Given the description of an element on the screen output the (x, y) to click on. 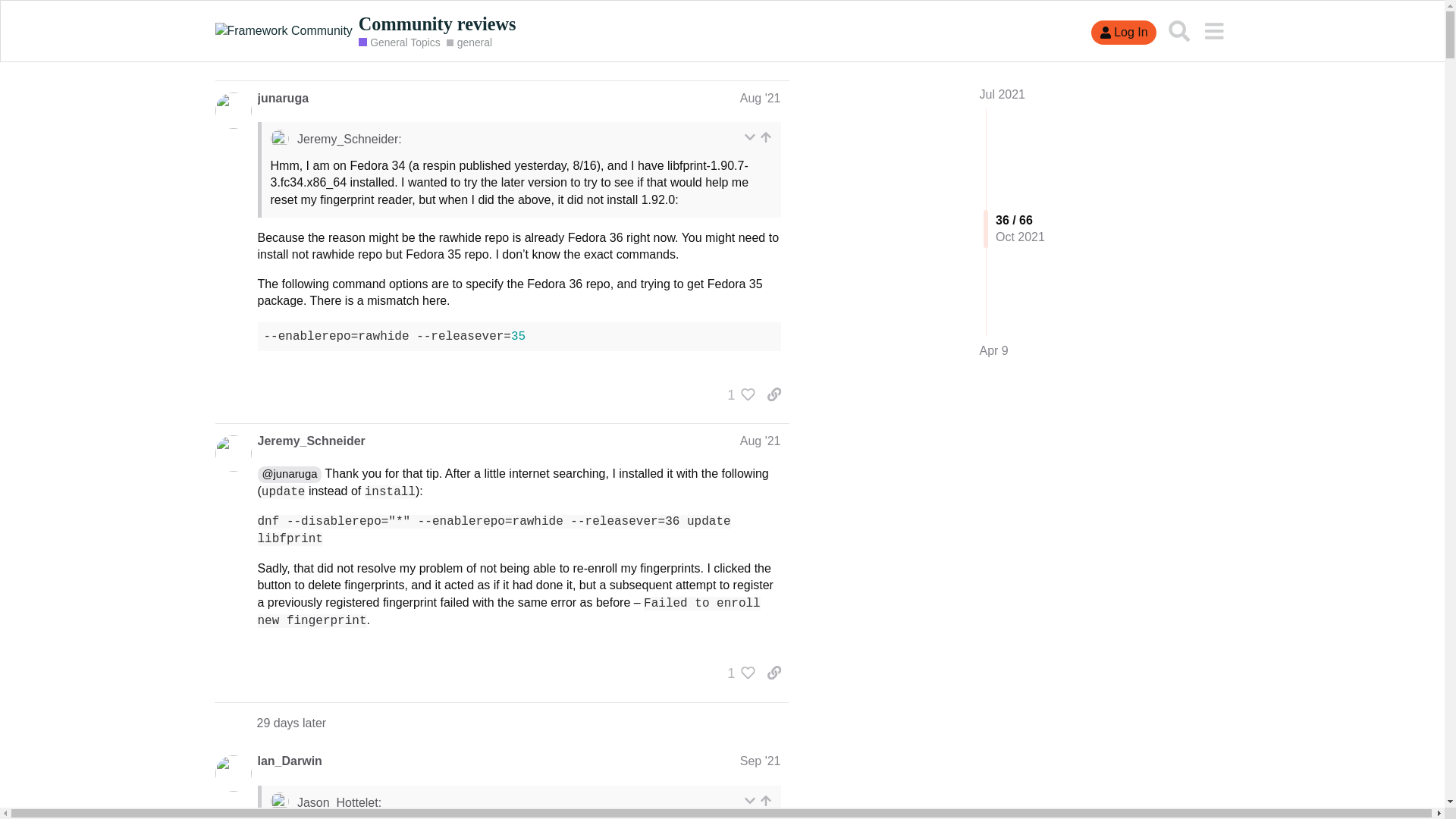
Jul 2021 (1002, 93)
Log In (1123, 32)
menu (1213, 30)
go to the quoted post (765, 137)
junaruga (282, 98)
Apr 9, 2024 4:32 am (994, 350)
General Topics (399, 42)
Post date (759, 97)
Search (1178, 30)
Apr 9 (994, 351)
